Given the description of an element on the screen output the (x, y) to click on. 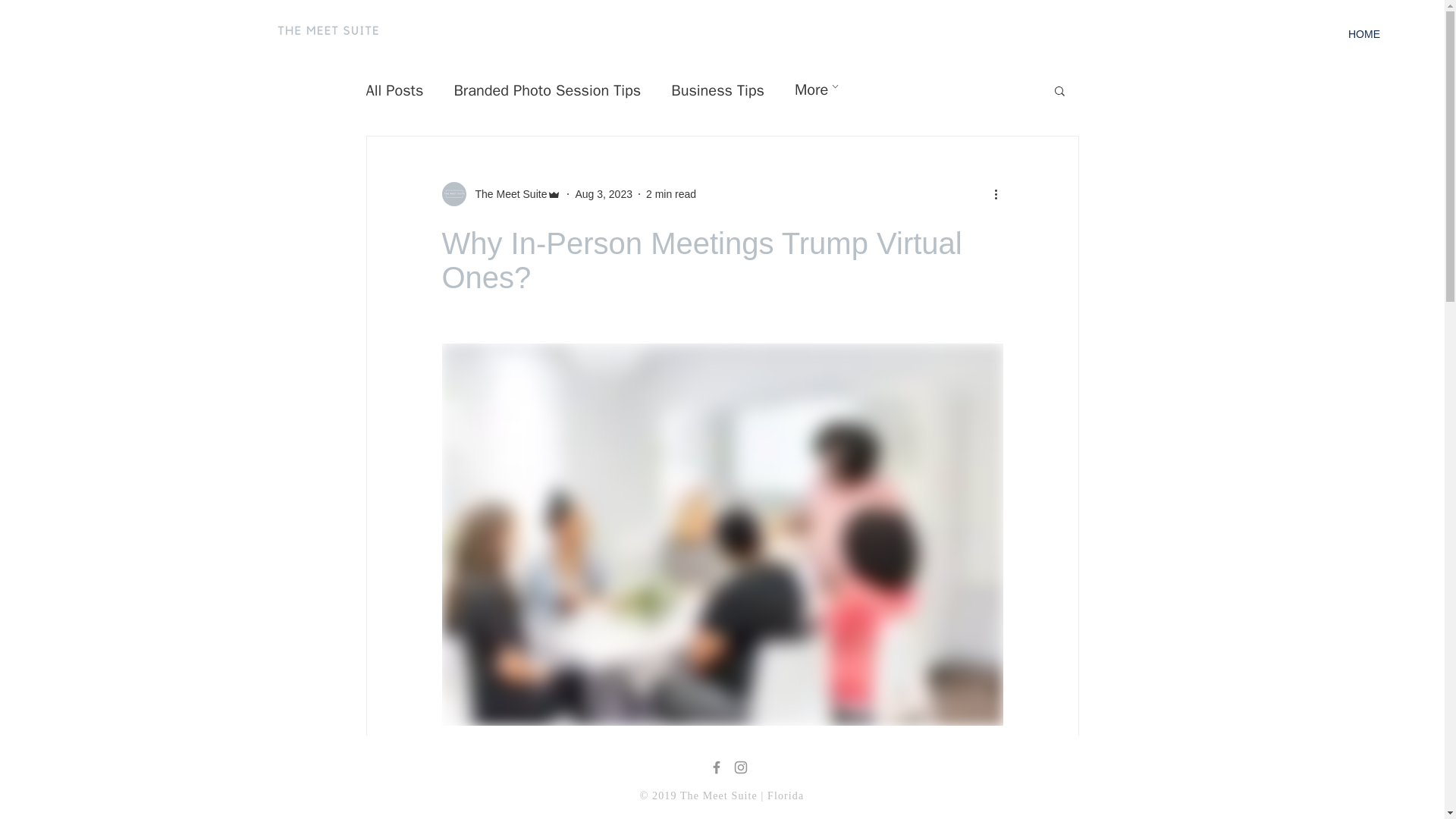
All Posts (394, 90)
2 min read (670, 193)
Branded Photo Session Tips (546, 90)
The Meet Suite (500, 193)
Aug 3, 2023 (603, 193)
HOME (1363, 34)
The Meet Suite (506, 194)
Business Tips (717, 90)
